Given the description of an element on the screen output the (x, y) to click on. 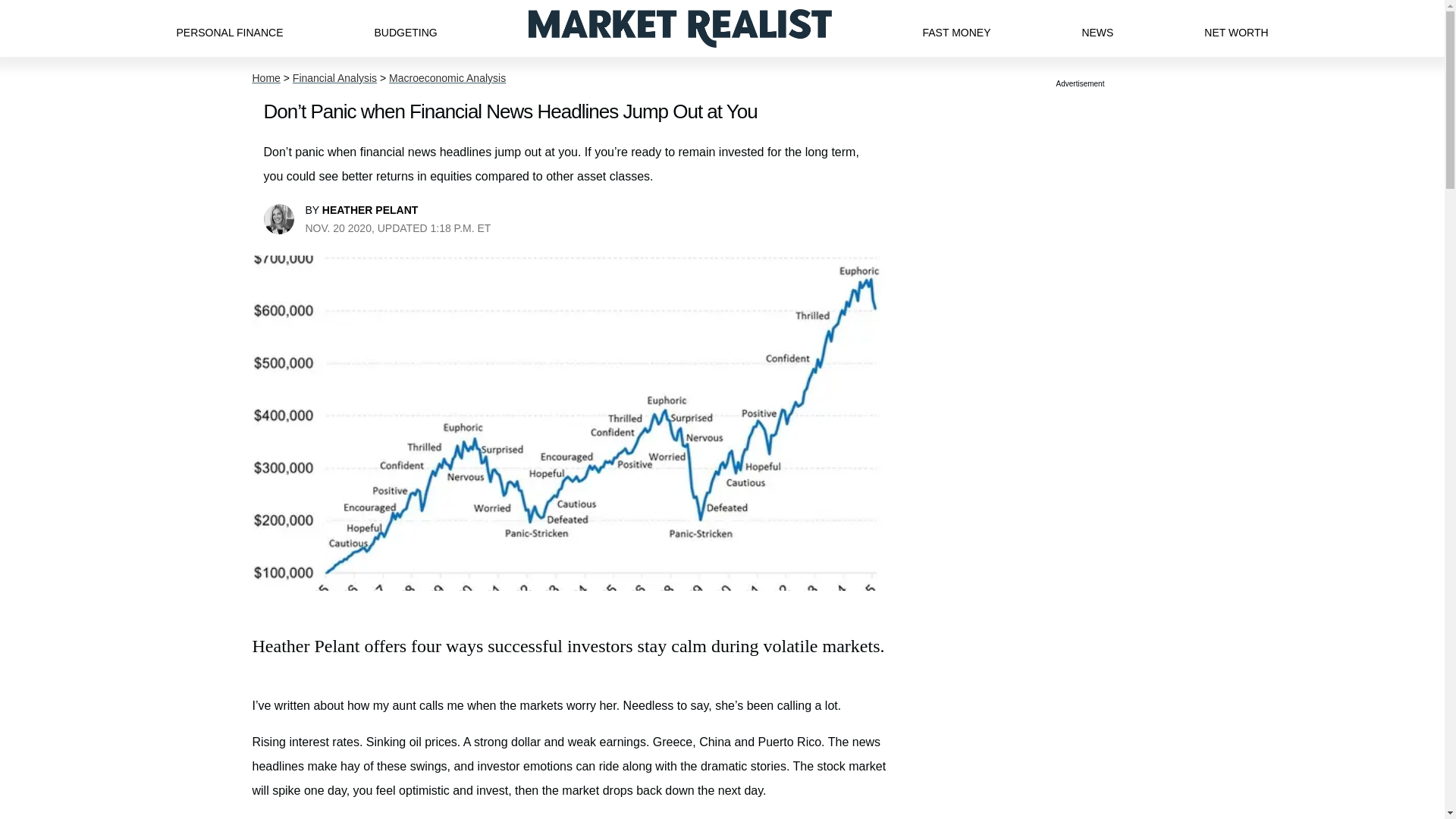
NET WORTH (1236, 27)
Macroeconomic Analysis (446, 78)
Financial Analysis (334, 78)
Home (265, 78)
NEWS (1097, 27)
FAST MONEY (955, 27)
HEATHER PELANT (370, 209)
PERSONAL FINANCE (229, 27)
BUDGETING (405, 27)
